Given the description of an element on the screen output the (x, y) to click on. 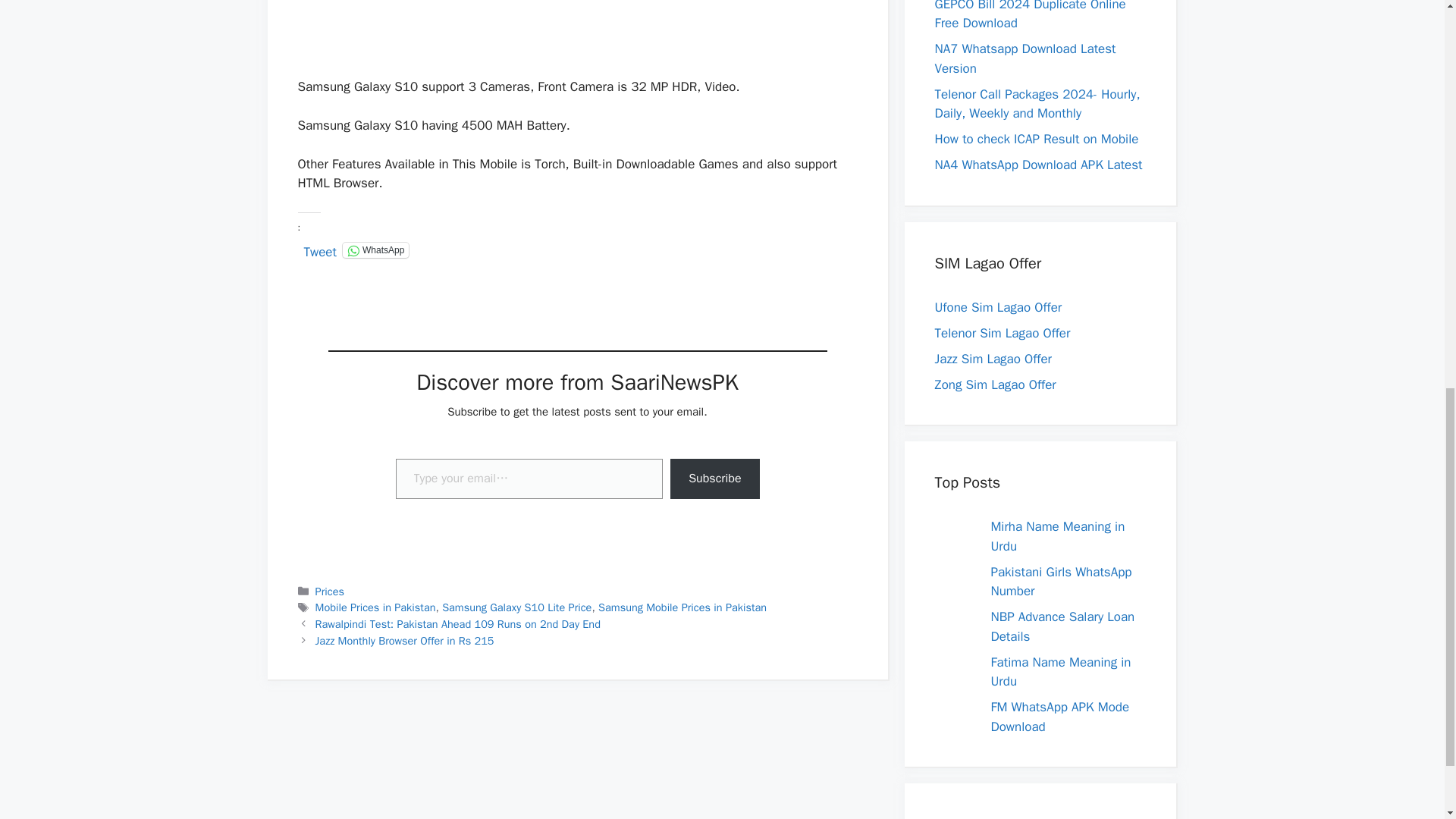
Tweet (319, 249)
How to check ICAP Result on Mobile (1036, 139)
Jazz Sim Lagao Offer (992, 358)
Jazz Monthly Browser Offer in Rs 215 (405, 640)
Samsung Mobile Prices in Pakistan (682, 607)
Subscribe (713, 478)
Ufone Sim Lagao Offer (997, 307)
Zong Sim Lagao Offer (994, 384)
Mobile Prices in Pakistan (375, 607)
